Given the description of an element on the screen output the (x, y) to click on. 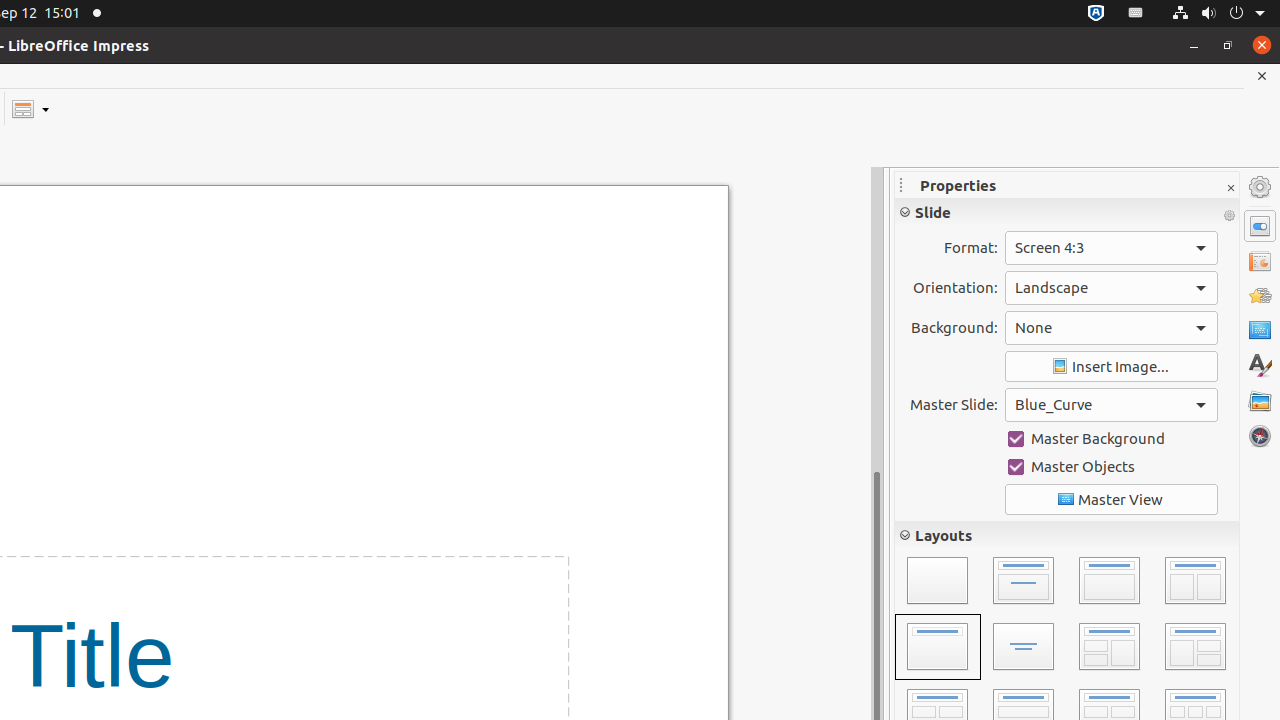
Demote Element type: push-button (1145, 680)
Right Element type: push-button (963, 412)
Center Element type: toggle-button (1195, 412)
Character Spacing Element type: push-button (1153, 339)
Line Spacing Element type: push-button (920, 607)
